Given the description of an element on the screen output the (x, y) to click on. 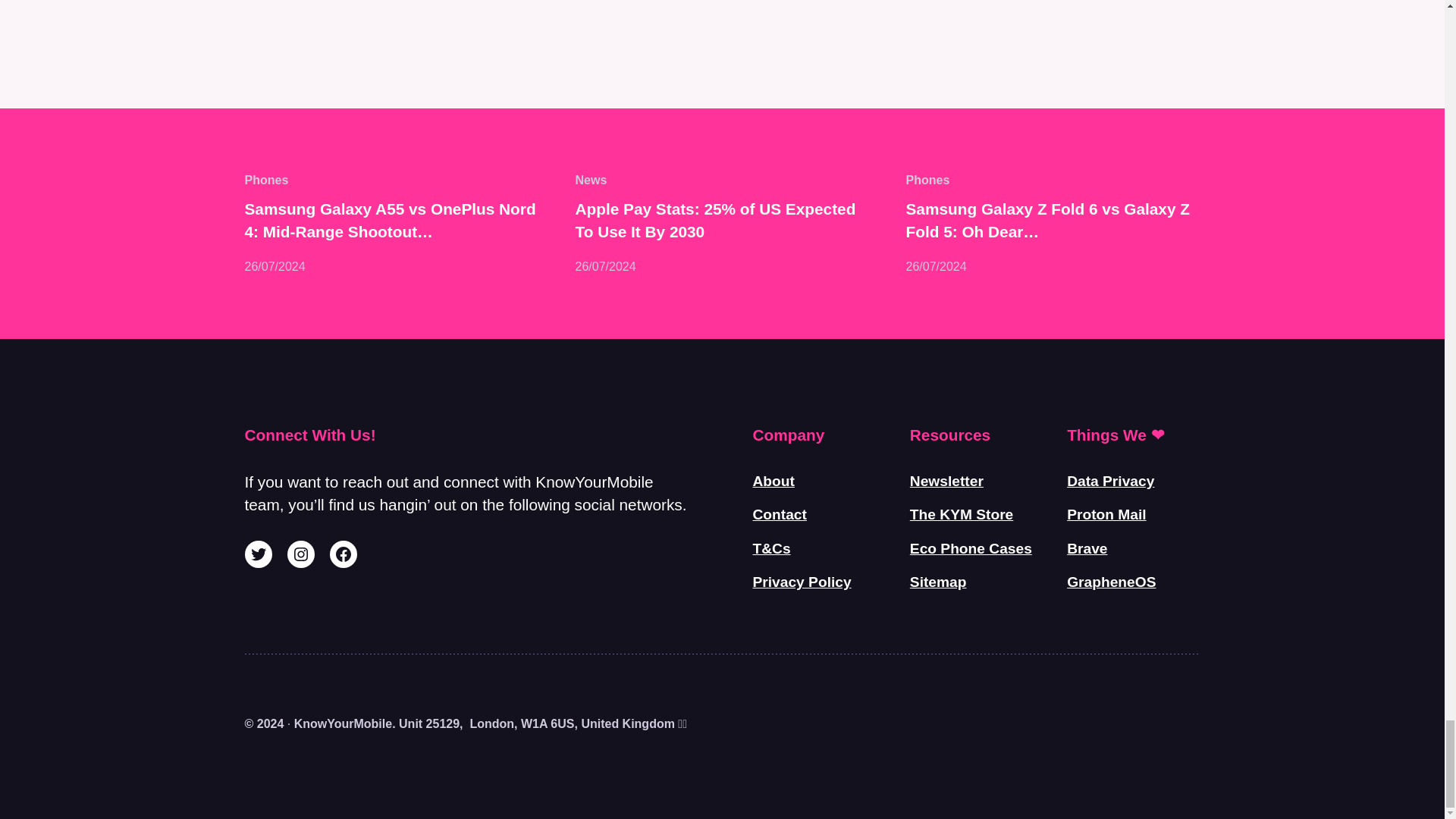
Phones (266, 179)
